Given the description of an element on the screen output the (x, y) to click on. 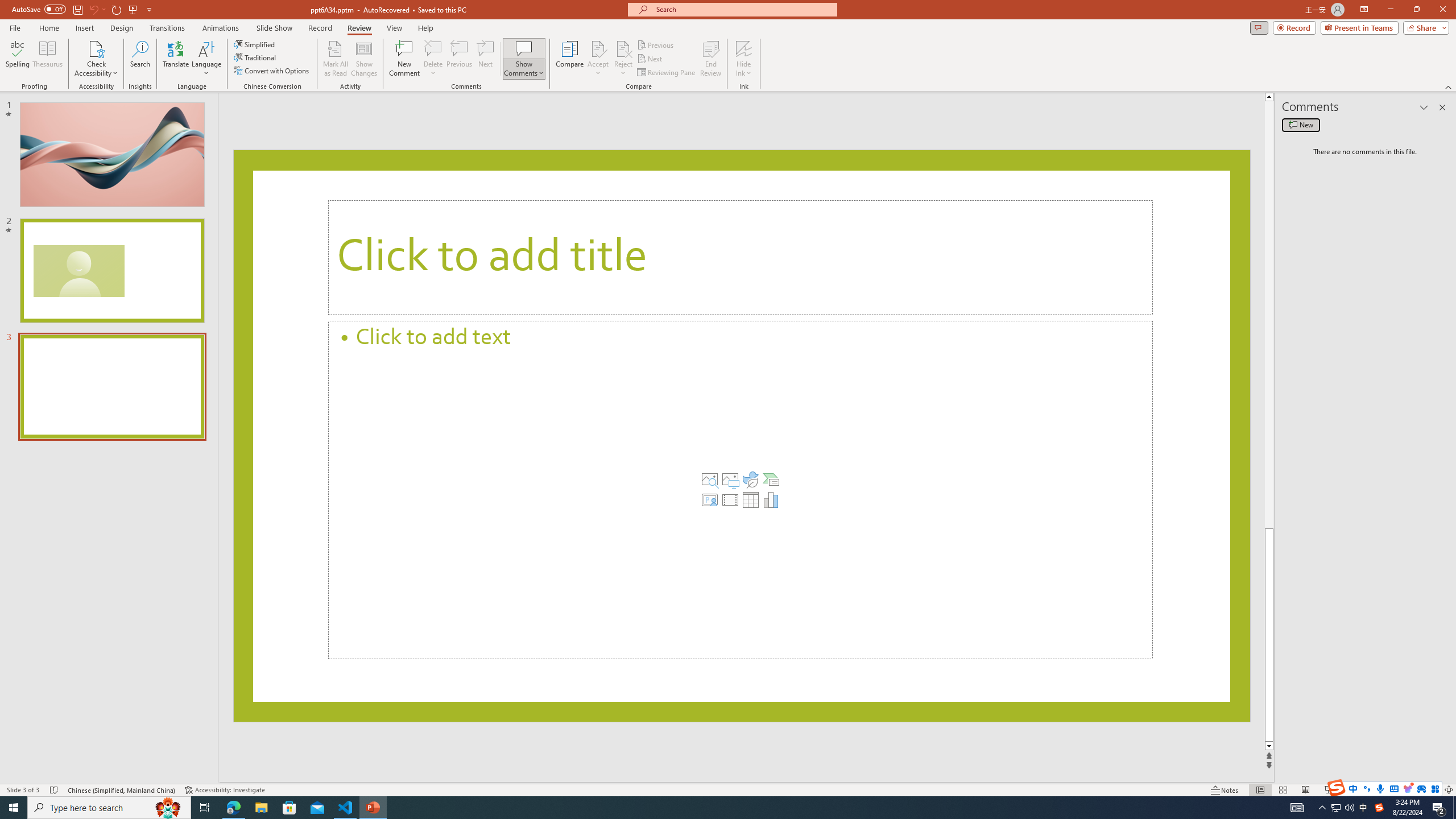
Show Changes (363, 58)
Hide Ink (743, 58)
